Given the description of an element on the screen output the (x, y) to click on. 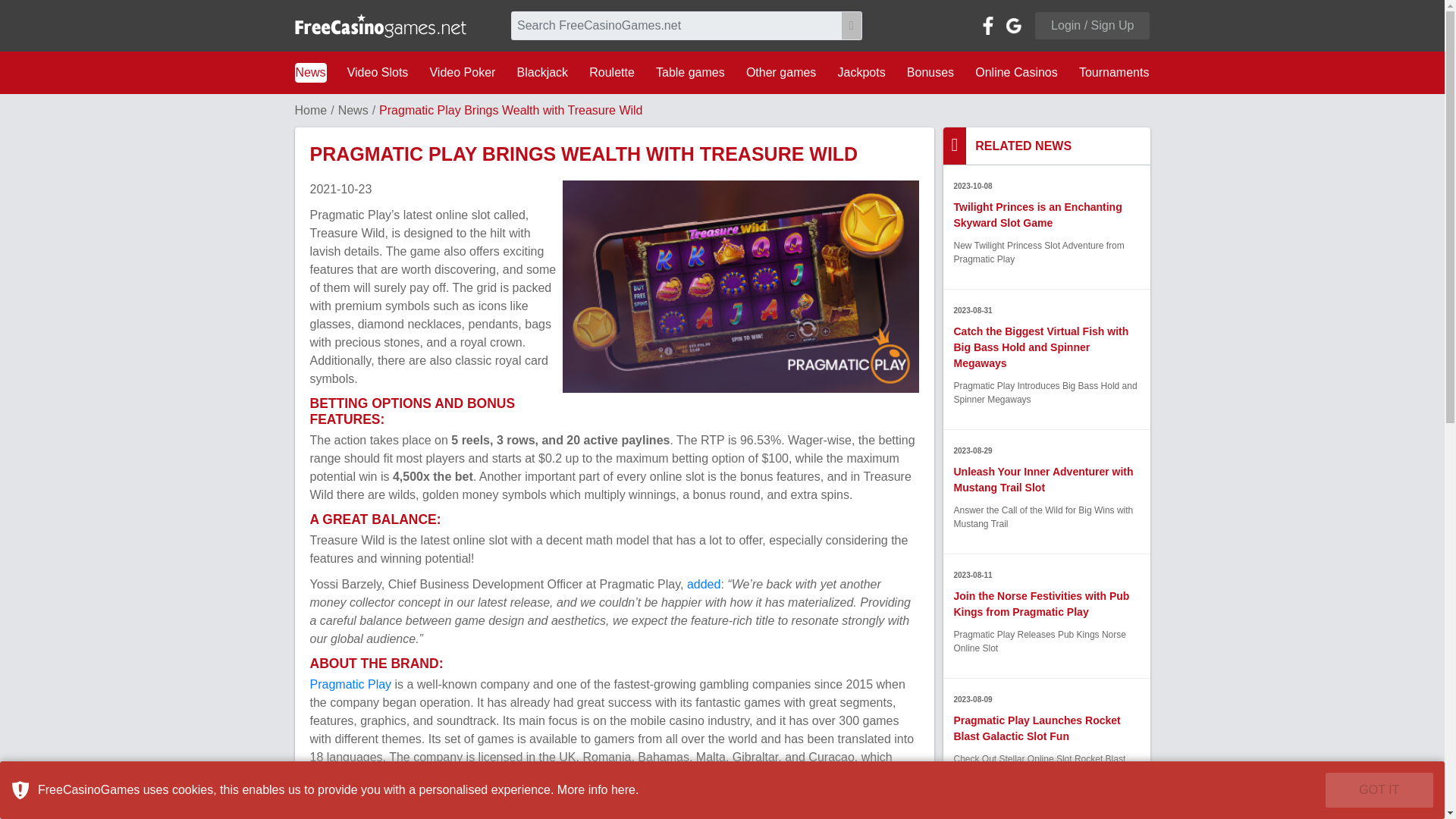
Jackpots (861, 72)
Table games (690, 72)
Video Poker (462, 72)
Home (310, 110)
Pragmatic Play Brings Wealth with Treasure Wild (740, 286)
News (310, 72)
Online Casinos (1016, 72)
Other games (780, 72)
Bonuses (930, 72)
Tournaments (1114, 72)
Video Slots (377, 72)
Roulette (611, 72)
Blackjack (542, 72)
